Given the description of an element on the screen output the (x, y) to click on. 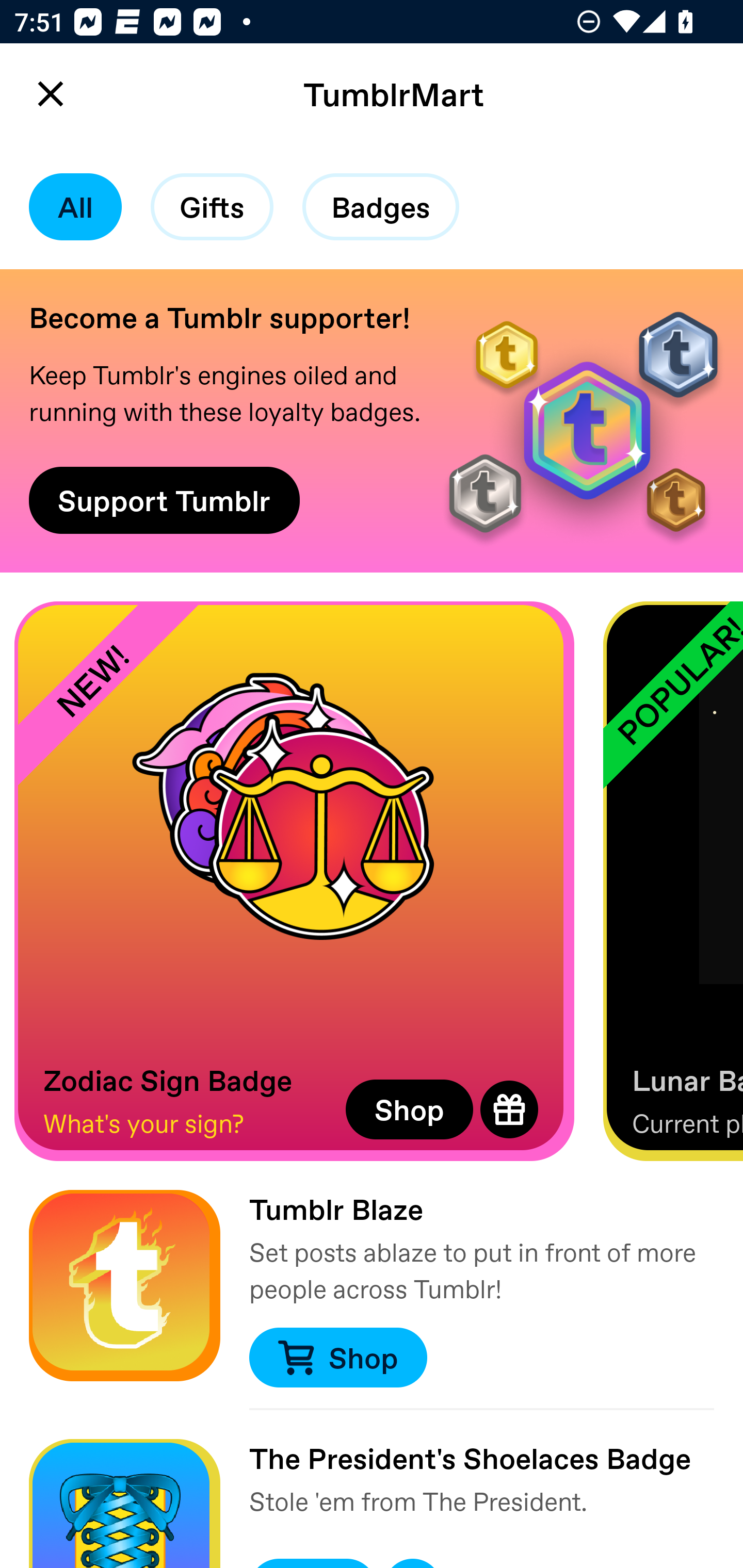
All (74, 206)
Gifts (211, 206)
Badges (380, 206)
Support Tumblr (163, 500)
NEW! Zodiac Sign Badge What's your sign? Shop (294, 881)
Shop (409, 1108)
Shop (337, 1357)
